Given the description of an element on the screen output the (x, y) to click on. 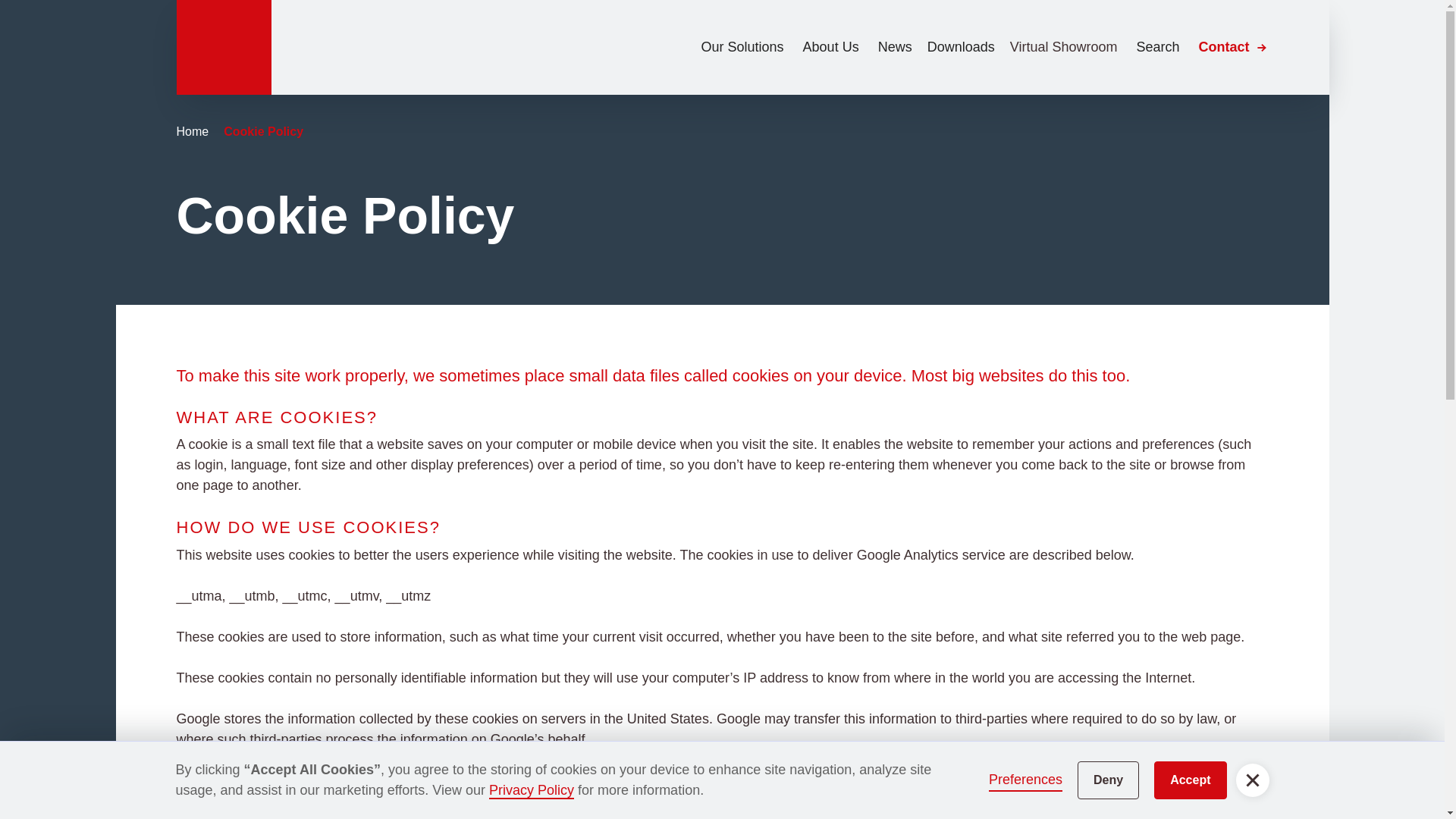
Privacy Policy (531, 790)
Accept (1189, 780)
Deny (1107, 780)
Preferences (1025, 780)
